Given the description of an element on the screen output the (x, y) to click on. 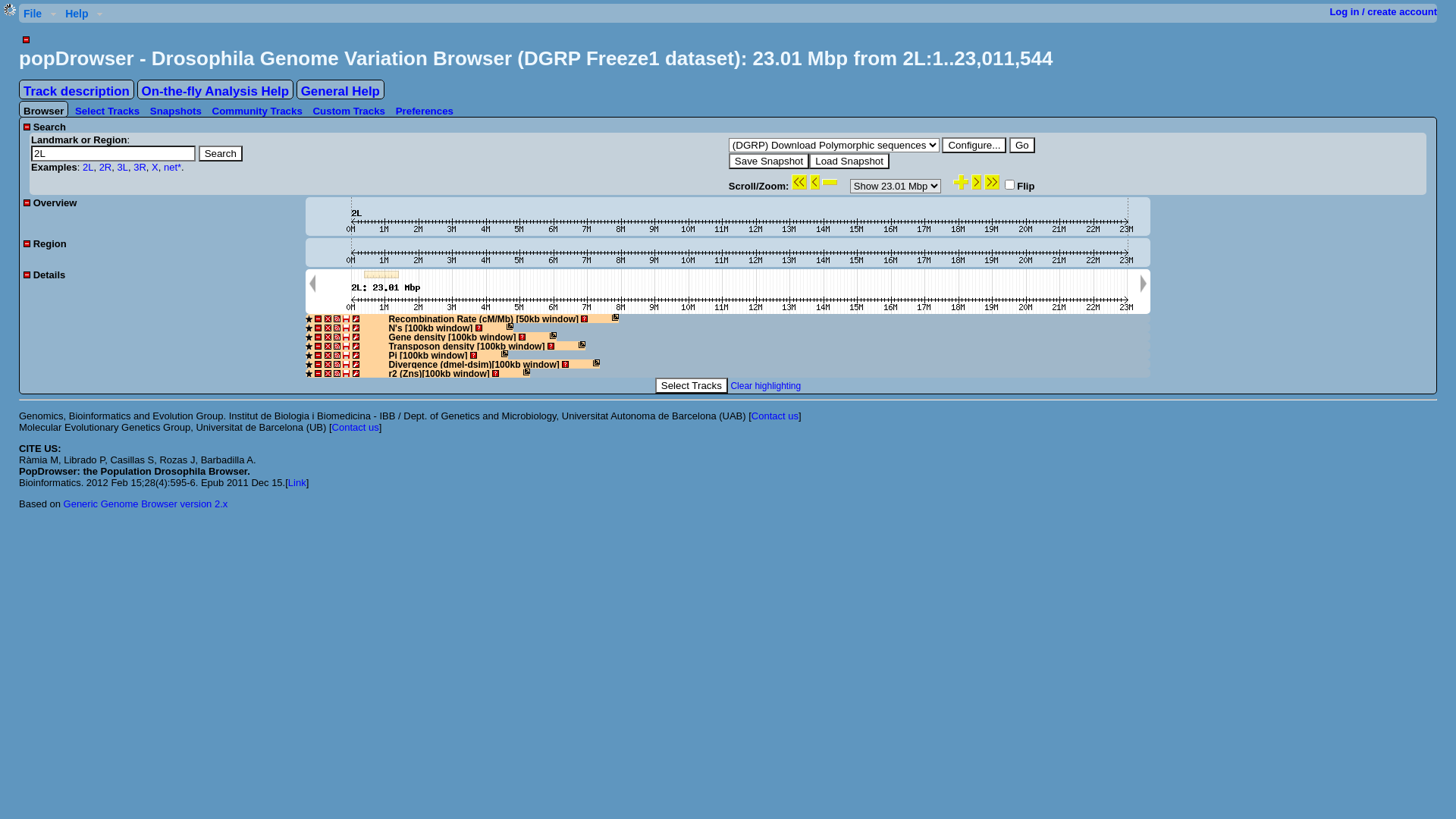
Contact us Element type: text (355, 427)
Configure... Element type: text (973, 145)
  Element type: text (27, 39)
net* Element type: text (172, 166)
 Region Element type: text (44, 243)
3R Element type: text (139, 166)
Track description Element type: text (76, 89)
General Help Element type: text (340, 89)
Save Snapshot Element type: text (768, 161)
Link Element type: text (297, 482)
Generic Genome Browser version 2.x Element type: text (145, 503)
zoom out 10% Element type: hover (829, 181)
 Details Element type: text (44, 274)
left 23.01 Mbp Element type: hover (798, 181)
zoom in 10% Element type: hover (960, 181)
Clear highlighting Element type: text (765, 385)
right 23.01 Mbp Element type: hover (991, 181)
On-the-fly Analysis Help Element type: text (214, 89)
Go Element type: text (1022, 145)
Contact us Element type: text (774, 415)
left 11.51 Mbp Element type: hover (814, 181)
Search Element type: text (220, 153)
2R Element type: text (105, 166)
right 11.51 Mbp Element type: hover (976, 181)
 Overview Element type: text (49, 202)
1 Element type: text (1009, 184)
3L Element type: text (121, 166)
X Element type: text (154, 166)
2L Element type: text (87, 166)
Select Tracks Element type: text (691, 385)
 Search Element type: text (44, 126)
Load Snapshot Element type: text (849, 161)
